Given the description of an element on the screen output the (x, y) to click on. 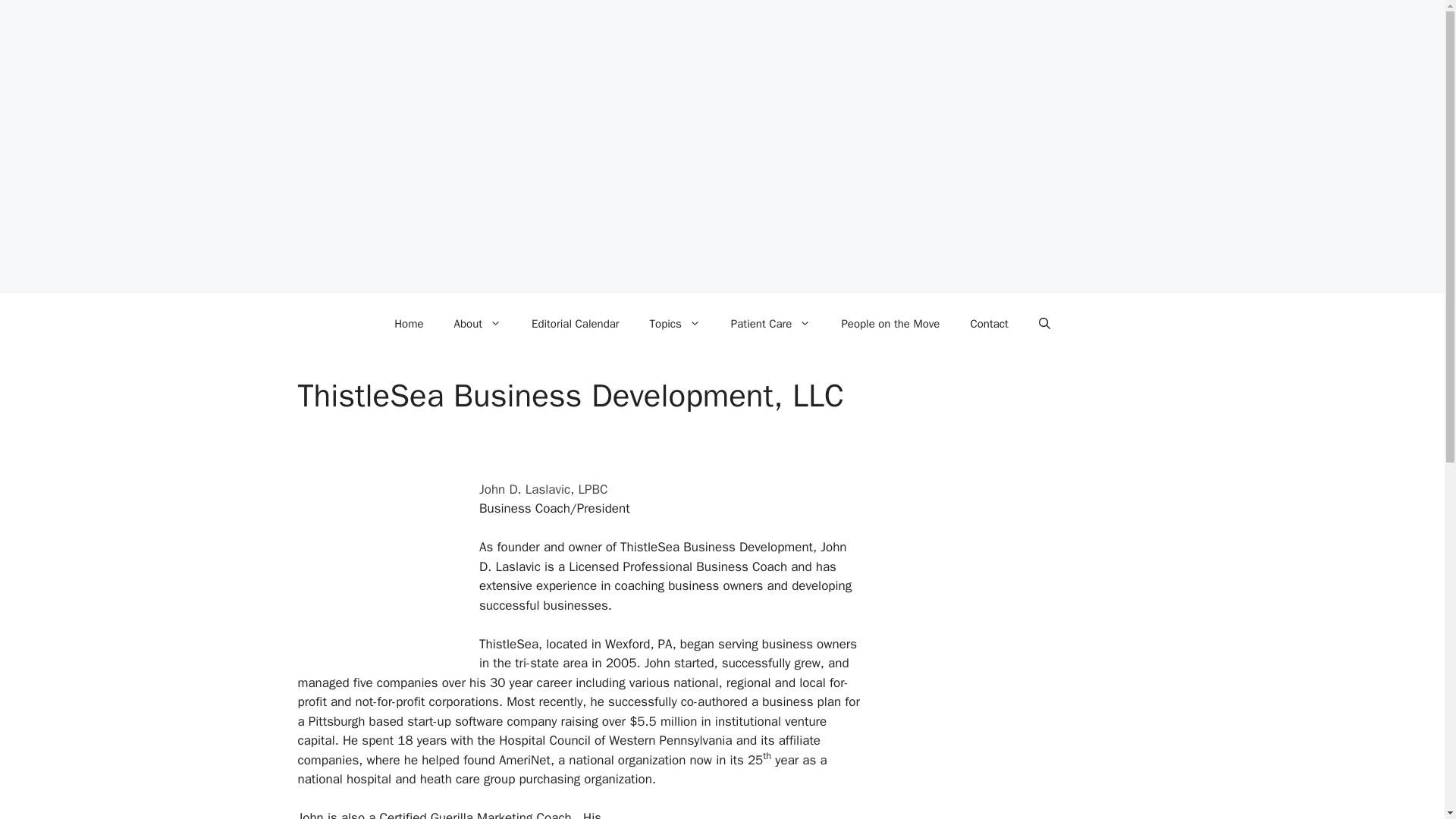
About (477, 323)
Editorial Calendar (575, 323)
Home (408, 323)
People on the Move (890, 323)
Contact (989, 323)
Patient Care (771, 323)
Thistle Sea (747, 813)
Topics (675, 323)
